Given the description of an element on the screen output the (x, y) to click on. 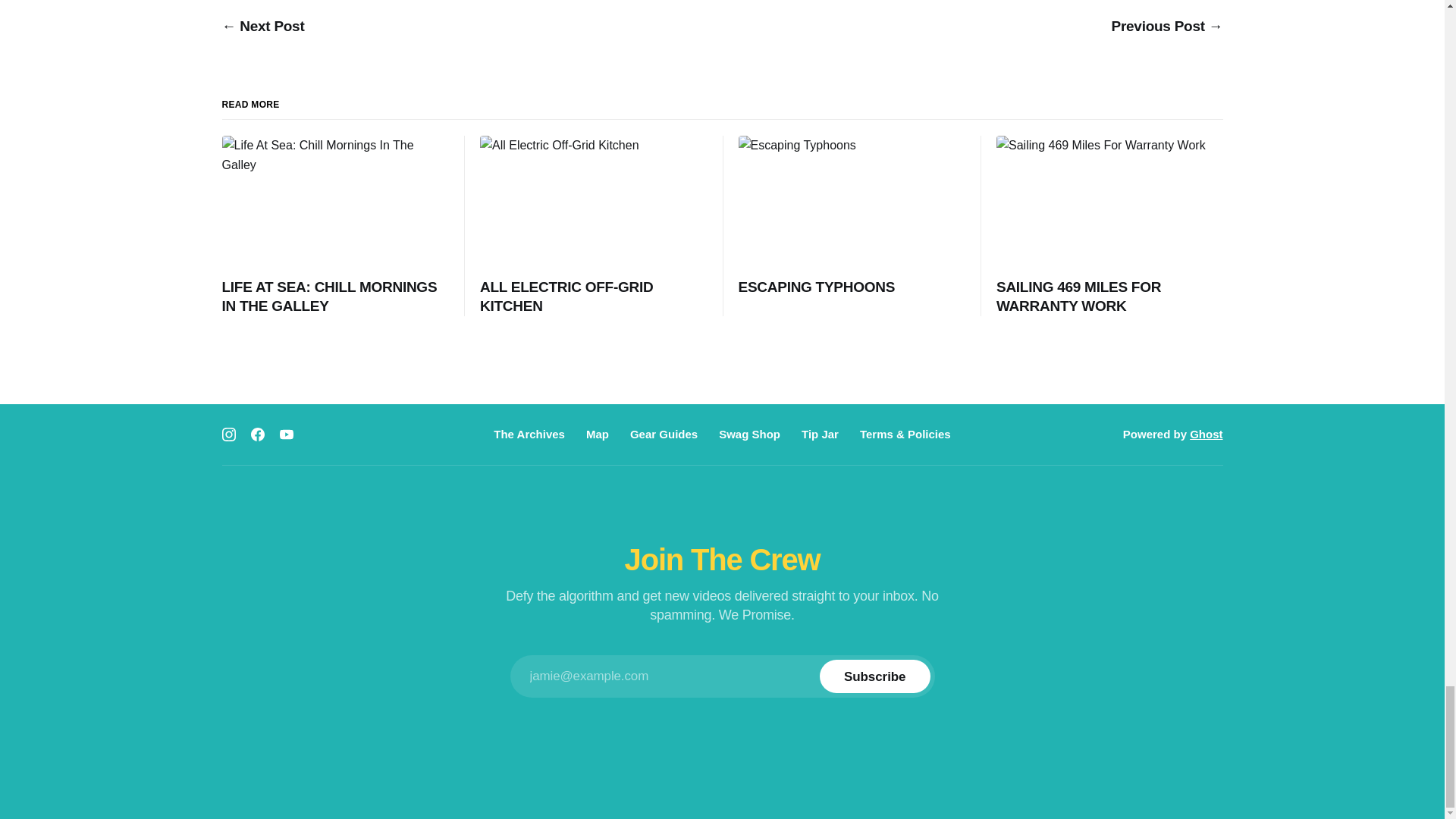
LIFE AT SEA: CHILL MORNINGS IN THE GALLEY (334, 225)
SAILING 469 MILES FOR WARRANTY WORK (1109, 225)
ESCAPING TYPHOONS (851, 216)
ALL ELECTRIC OFF-GRID KITCHEN (593, 225)
